Given the description of an element on the screen output the (x, y) to click on. 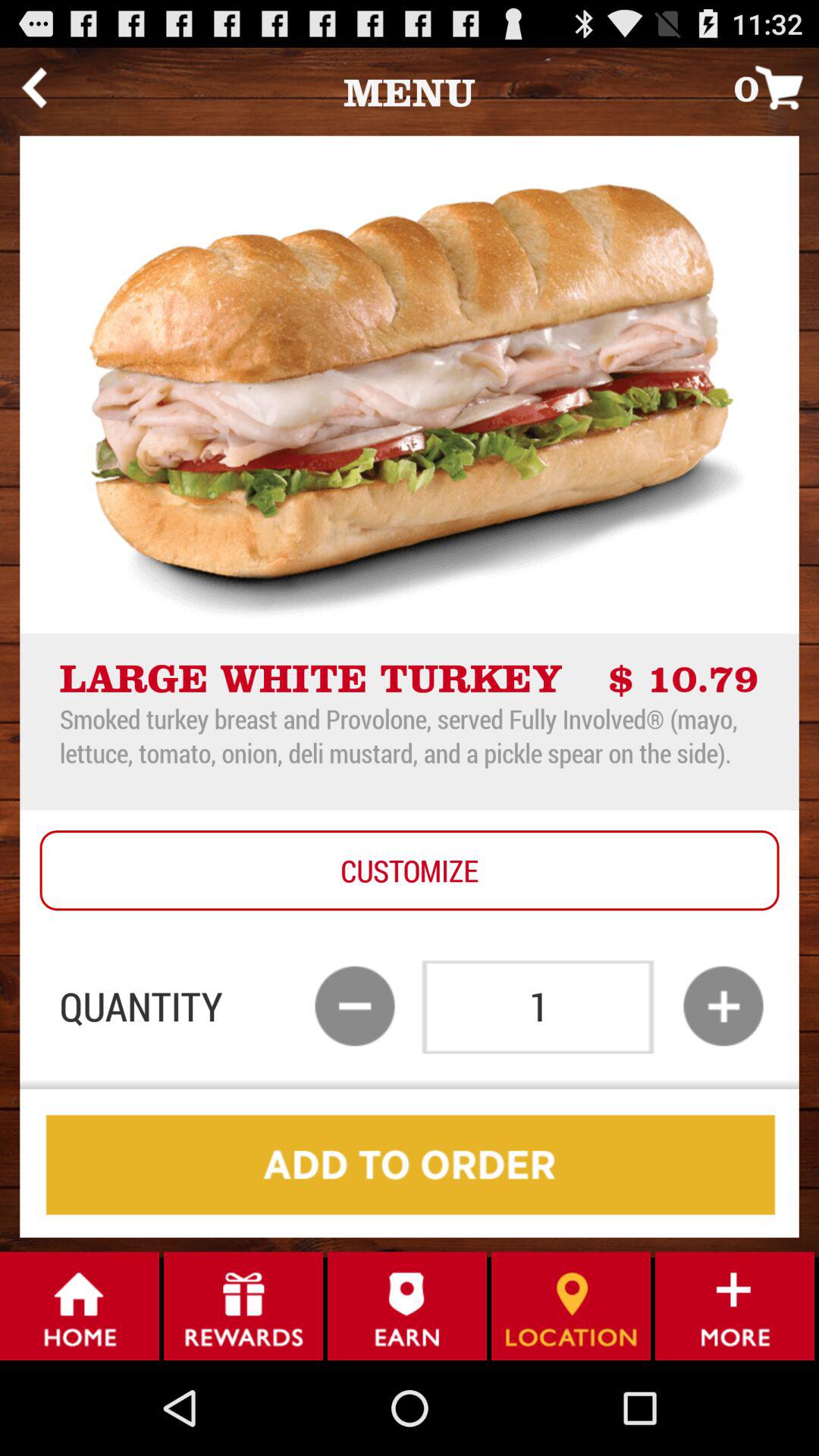
jump to 0 app (776, 87)
